Given the description of an element on the screen output the (x, y) to click on. 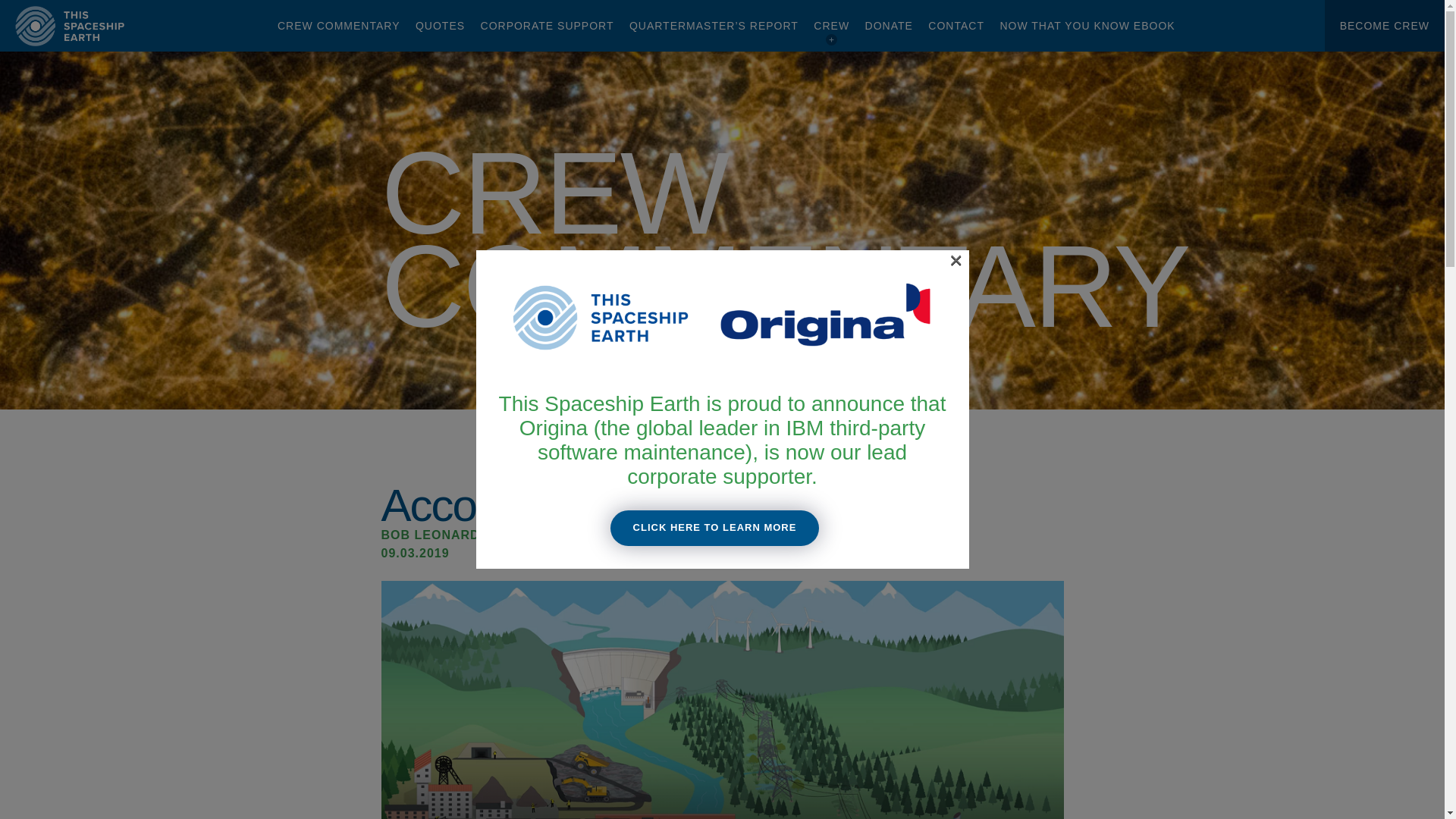
CREW COMMENTARY (338, 25)
CORPORATE SUPPORT (547, 25)
DONATE (889, 25)
CONTACT (956, 25)
CREW (831, 25)
CLICK HERE TO LEARN MORE (714, 528)
QUOTES (440, 25)
NOW THAT YOU KNOW EBOOK (1086, 25)
